Given the description of an element on the screen output the (x, y) to click on. 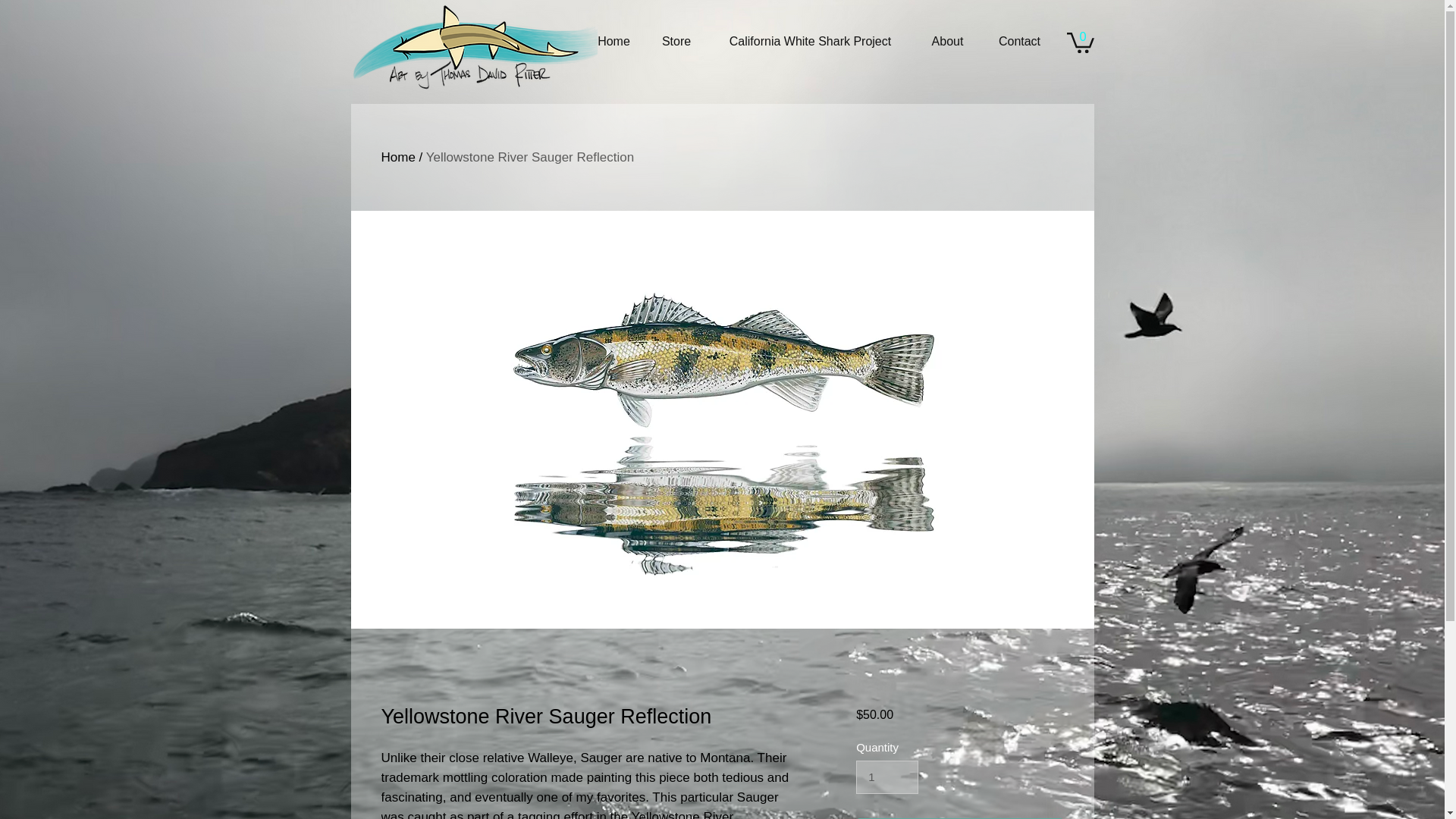
0 (1079, 41)
Home (613, 41)
Store (676, 41)
About (947, 41)
Contact (1019, 41)
0 (1079, 41)
California White Shark Project (810, 41)
Yellowstone River Sauger Reflection (529, 156)
Home (397, 156)
1 (887, 776)
